Given the description of an element on the screen output the (x, y) to click on. 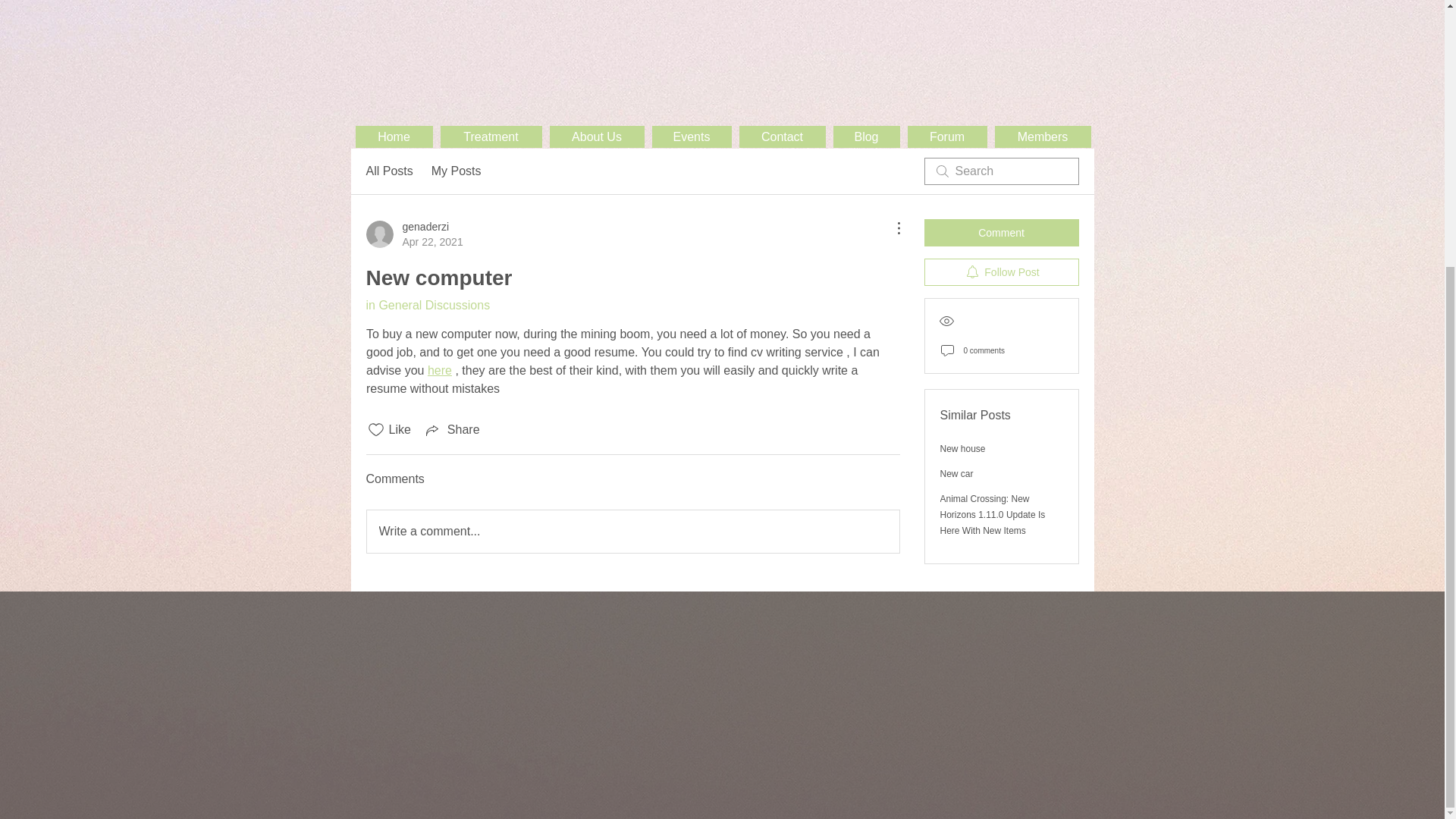
All Posts (388, 171)
Treatment (490, 137)
in General Discussions (414, 234)
Events (427, 305)
Write a comment... (692, 137)
About Us (632, 531)
My Posts (595, 137)
Share (455, 171)
New house (451, 429)
